Given the description of an element on the screen output the (x, y) to click on. 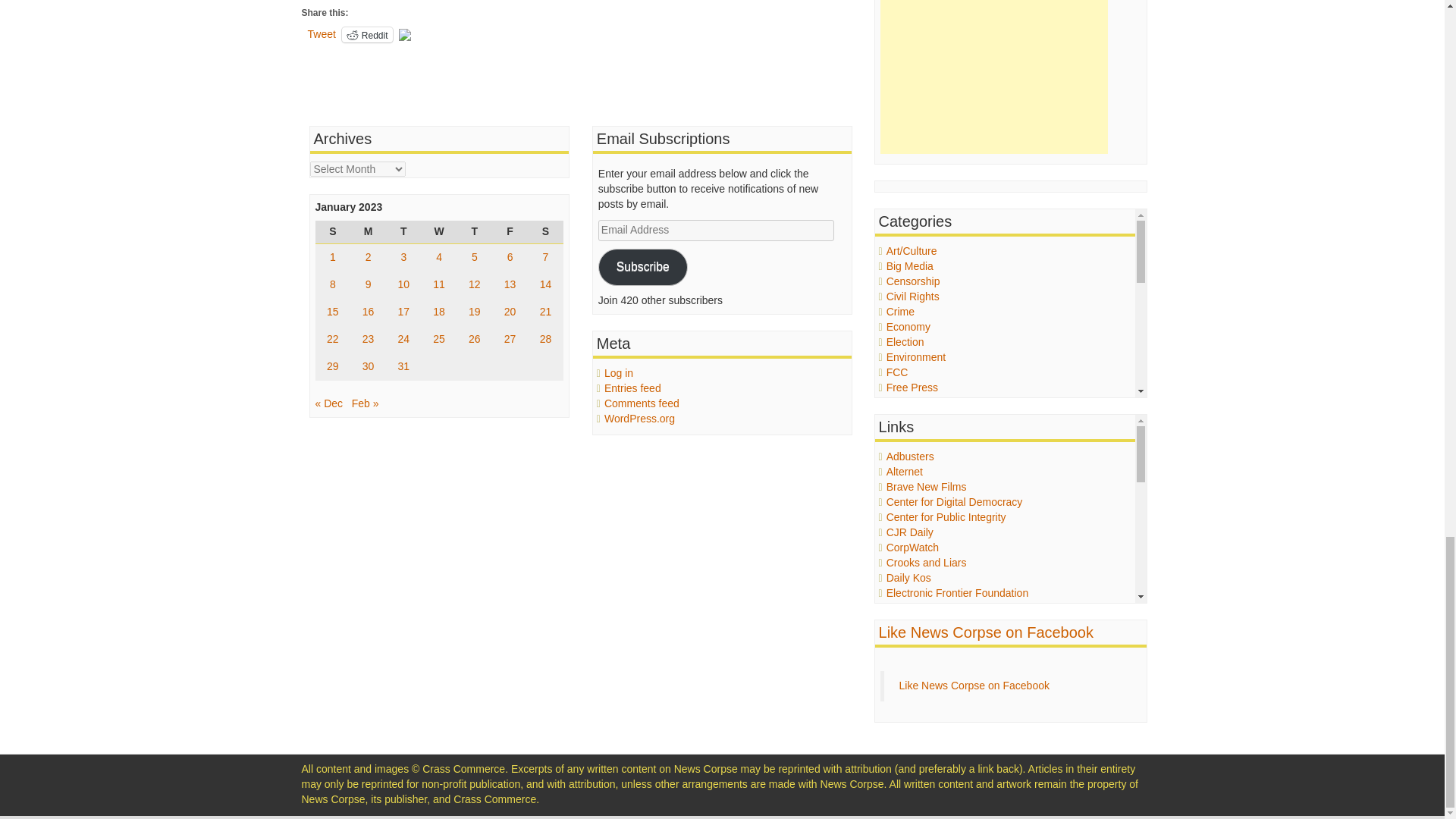
Monday (367, 231)
Reddit (367, 34)
Click to share on Reddit (367, 34)
Tweet (321, 33)
Thursday (474, 231)
Sunday (332, 231)
Advertisement (994, 76)
Wednesday (439, 231)
Tuesday (403, 231)
